Given the description of an element on the screen output the (x, y) to click on. 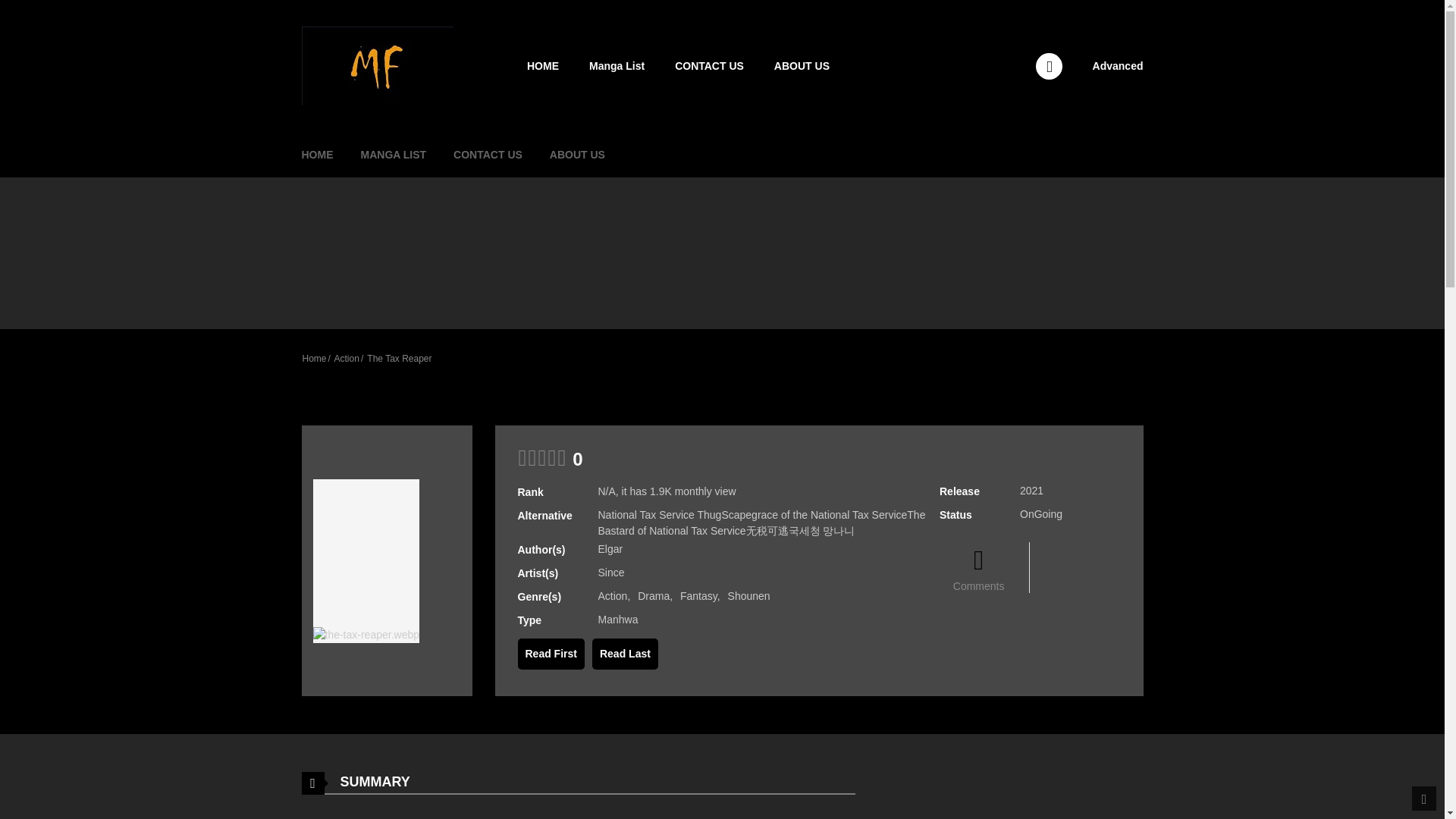
Manga Freak (376, 64)
Action (346, 357)
Action (611, 595)
CONTACT US (708, 66)
Drama (653, 595)
Elgar (609, 548)
Search (970, 9)
The Tax Reaper (398, 357)
Fantasy (698, 595)
MANGA LIST (392, 154)
Since (610, 572)
HOME (316, 154)
Read First (549, 653)
2021 (1031, 490)
ABOUT US (577, 154)
